Given the description of an element on the screen output the (x, y) to click on. 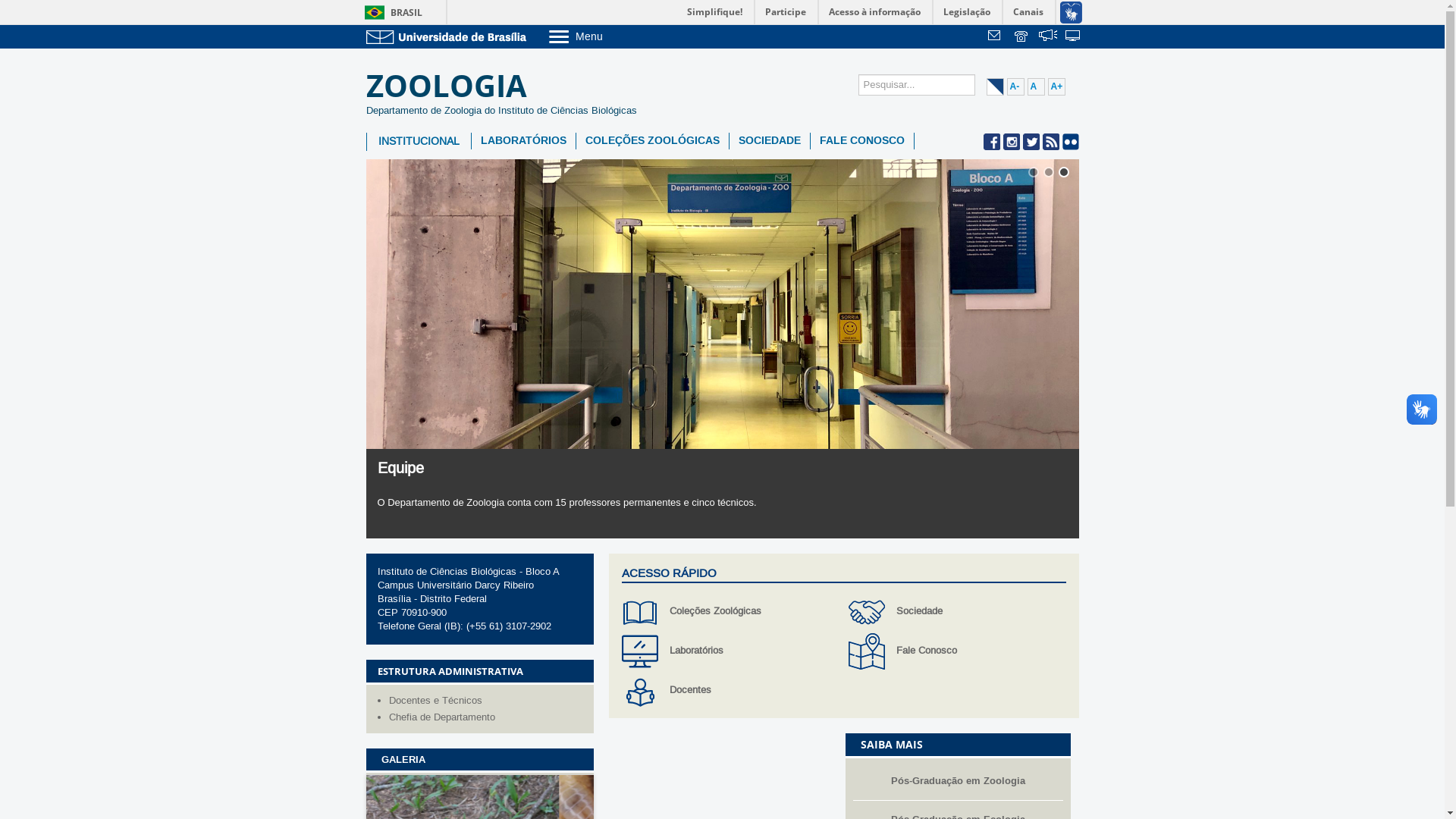
SOCIEDADE Element type: text (769, 140)
FALE CONOSCO Element type: text (861, 140)
Menu Element type: text (613, 35)
  Element type: text (1047, 37)
Sistemas Element type: hover (1073, 37)
Fale Conosco Element type: text (957, 651)
Chefia de Departamento Element type: text (486, 717)
A- Element type: text (1015, 86)
Ir para o Portal da UnB Element type: hover (448, 36)
BRASIL Element type: text (389, 12)
Docentes Element type: text (730, 690)
Telefones da UnB Element type: hover (1022, 37)
  Element type: text (1073, 37)
A Element type: text (1035, 86)
Webmail Element type: hover (996, 37)
  Element type: text (1022, 37)
Equipe Element type: text (400, 468)
Sociedade Element type: text (957, 611)
  Element type: text (996, 37)
Fala.BR Element type: hover (1047, 37)
A+ Element type: text (1056, 86)
